Given the description of an element on the screen output the (x, y) to click on. 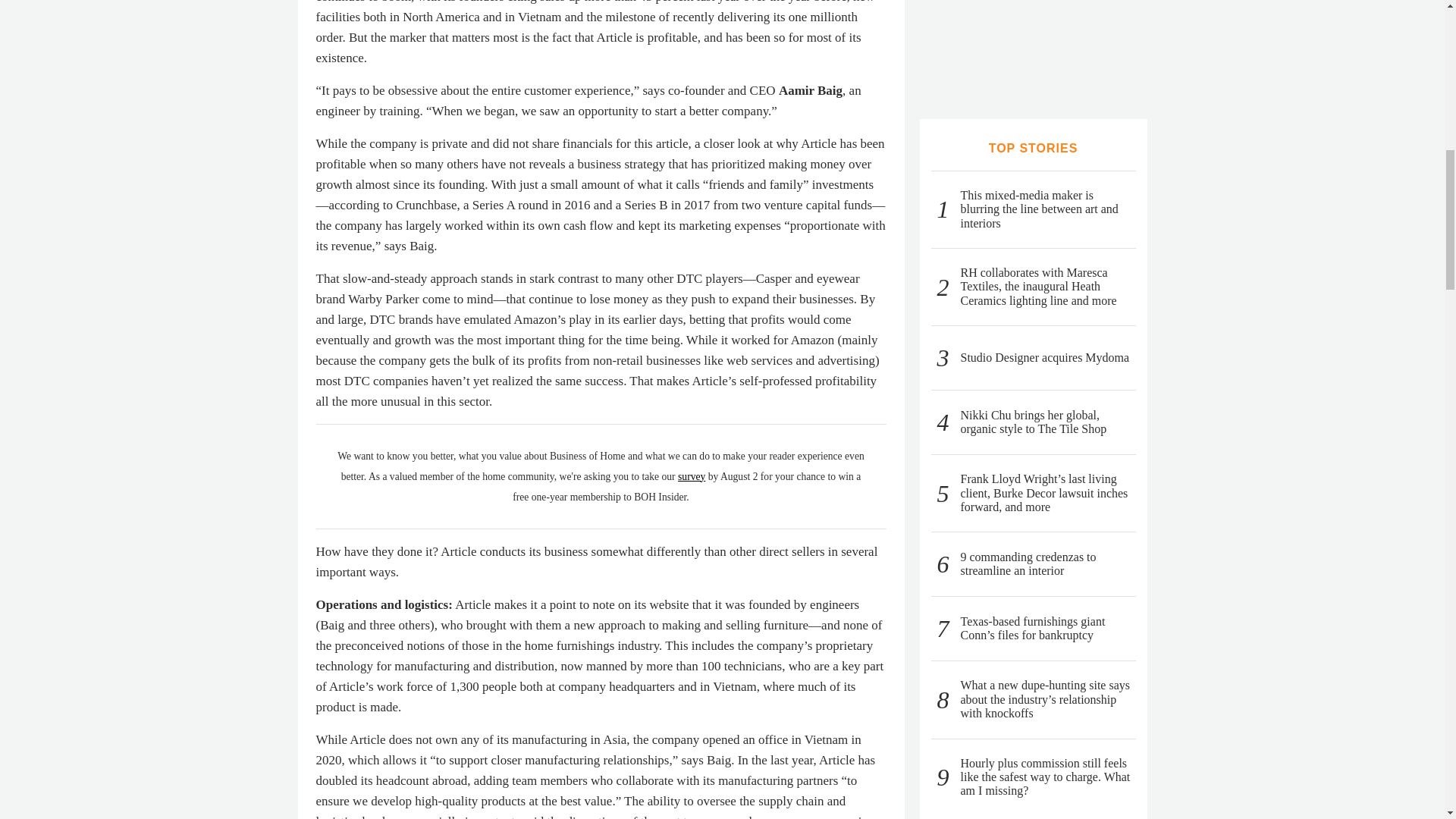
3rd party ad content (1032, 44)
